Given the description of an element on the screen output the (x, y) to click on. 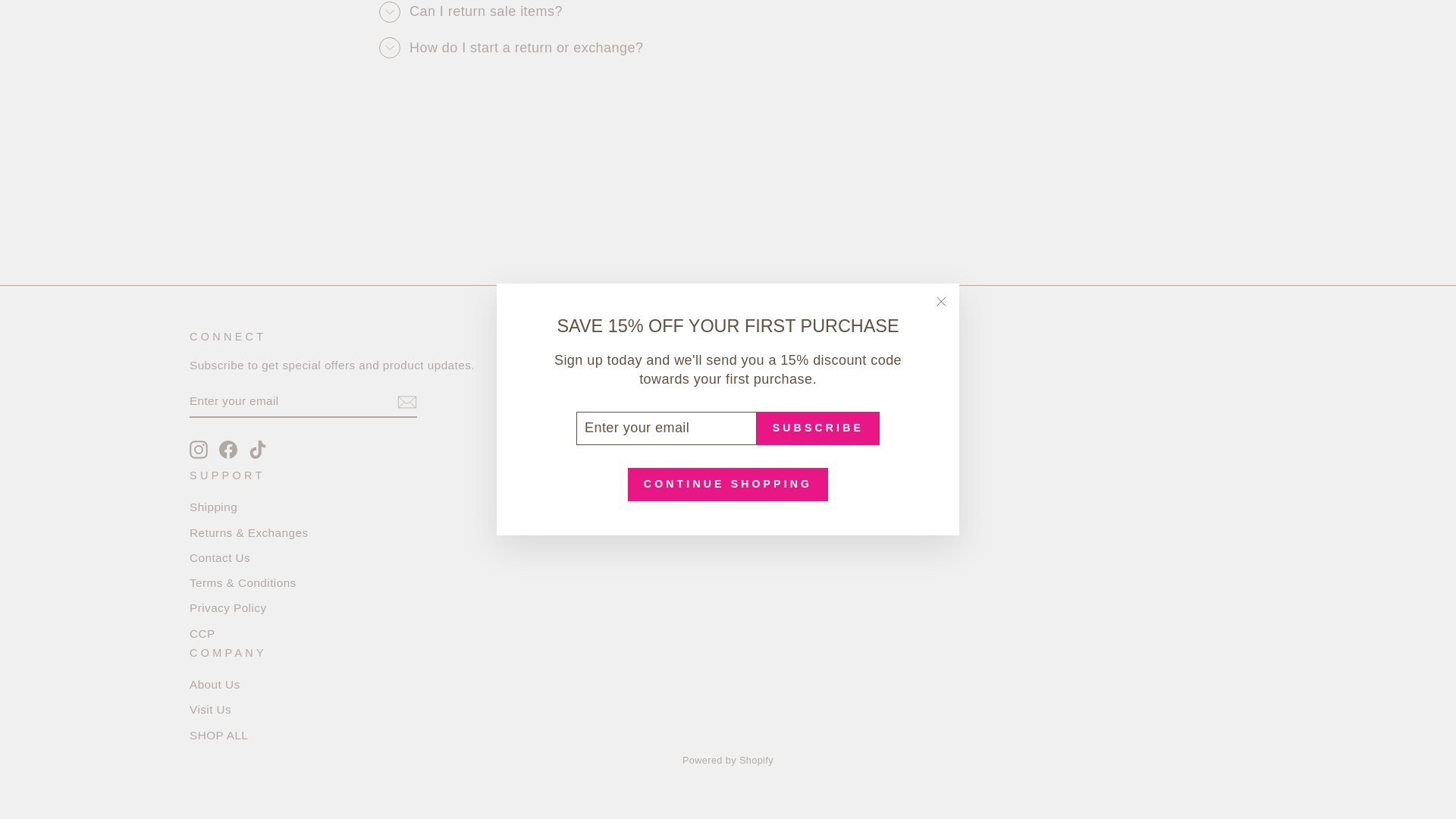
instagram (198, 449)
icon-email (406, 402)
Icon on Taylor on Instagram (198, 449)
